Given the description of an element on the screen output the (x, y) to click on. 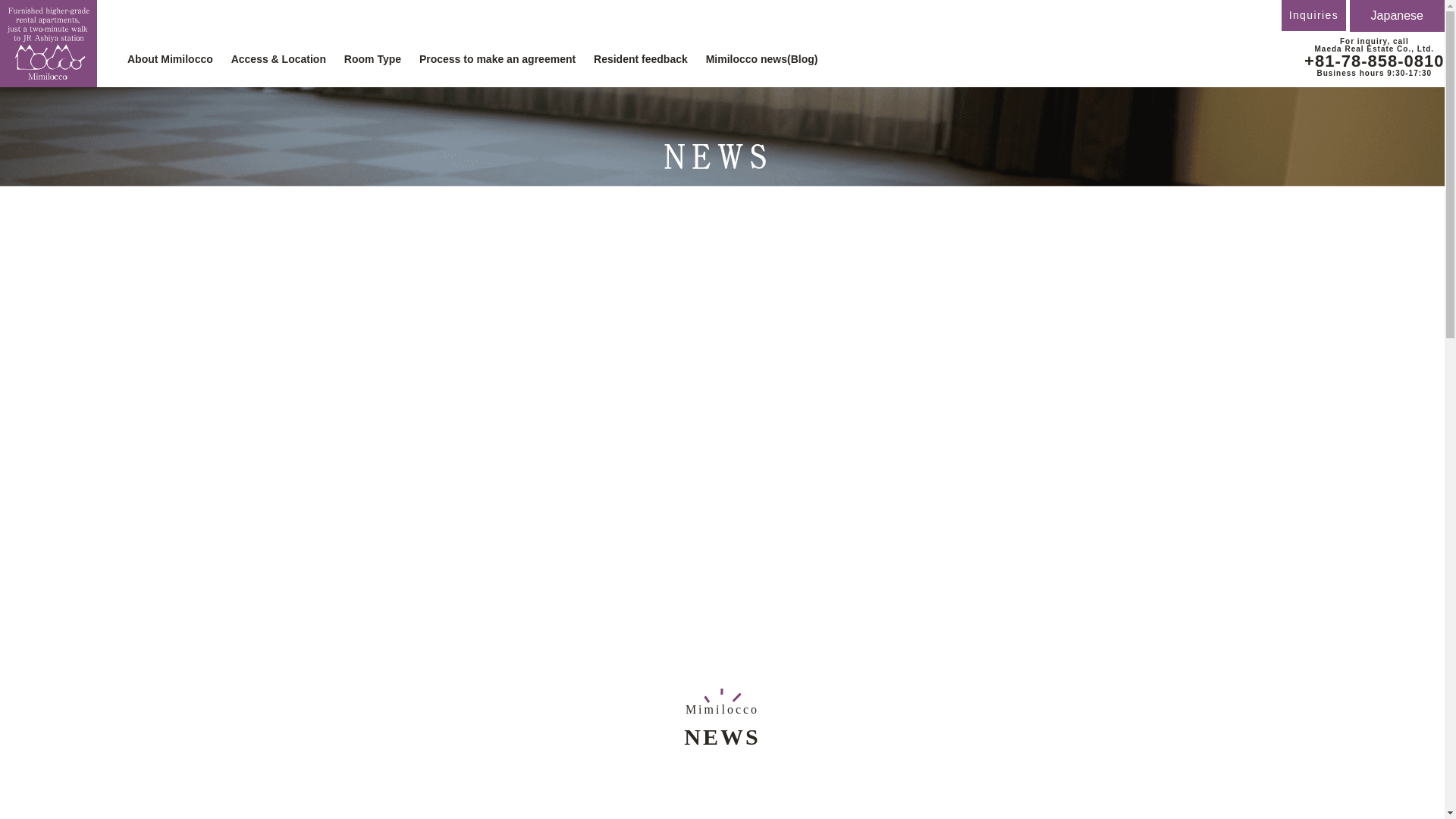
Room Type (372, 59)
Resident feedback (640, 59)
About Mimilocco (170, 59)
Inquiries (1313, 15)
Process to make an agreement (497, 59)
